Given the description of an element on the screen output the (x, y) to click on. 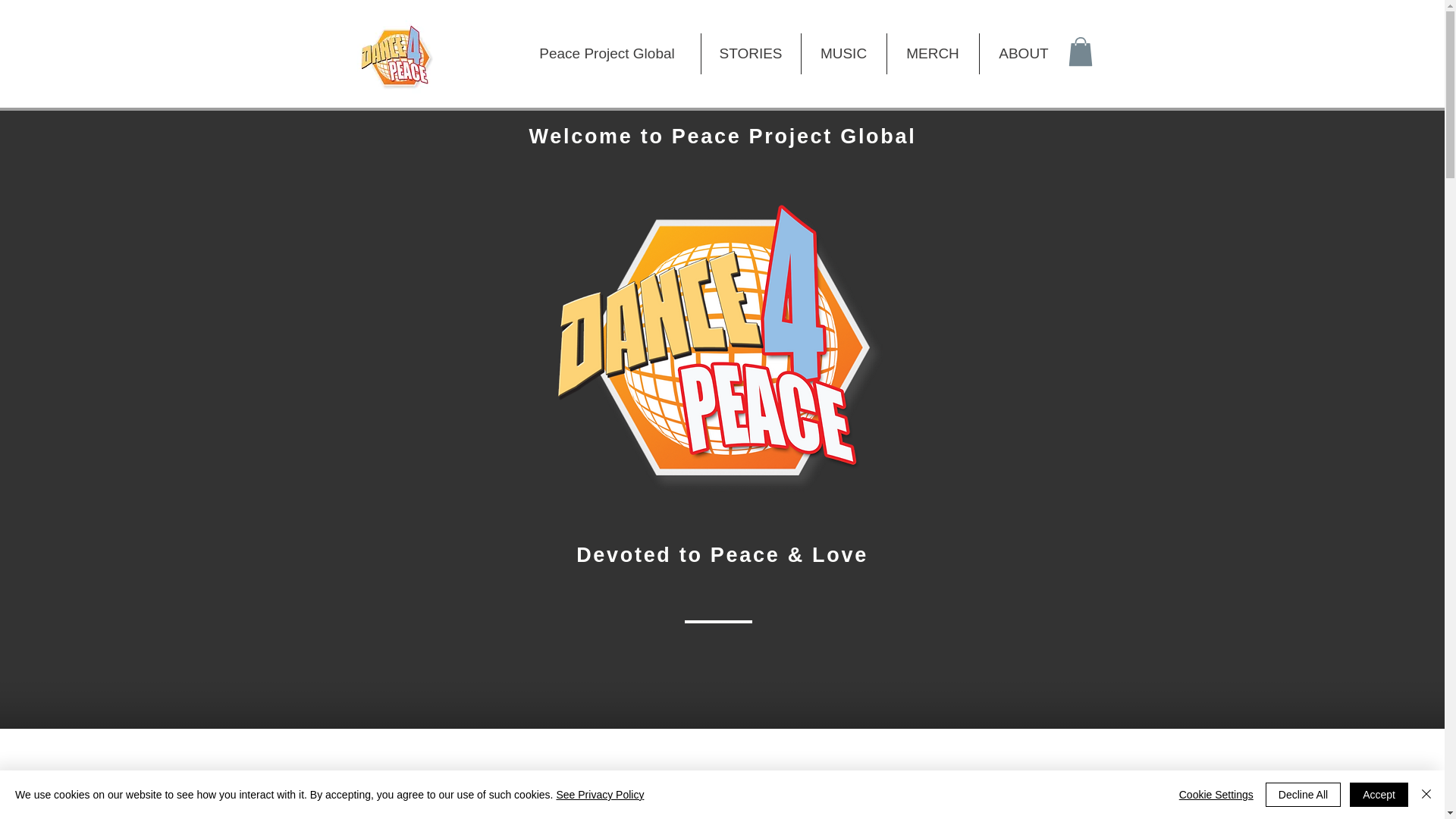
ABOUT (1023, 53)
STORIES (749, 53)
Decline All (1302, 794)
See Privacy Policy (599, 794)
Peace Project Global (606, 53)
Accept (1378, 794)
MUSIC (842, 53)
MERCH (932, 53)
Remix Artwork.jpg (541, 803)
